Given the description of an element on the screen output the (x, y) to click on. 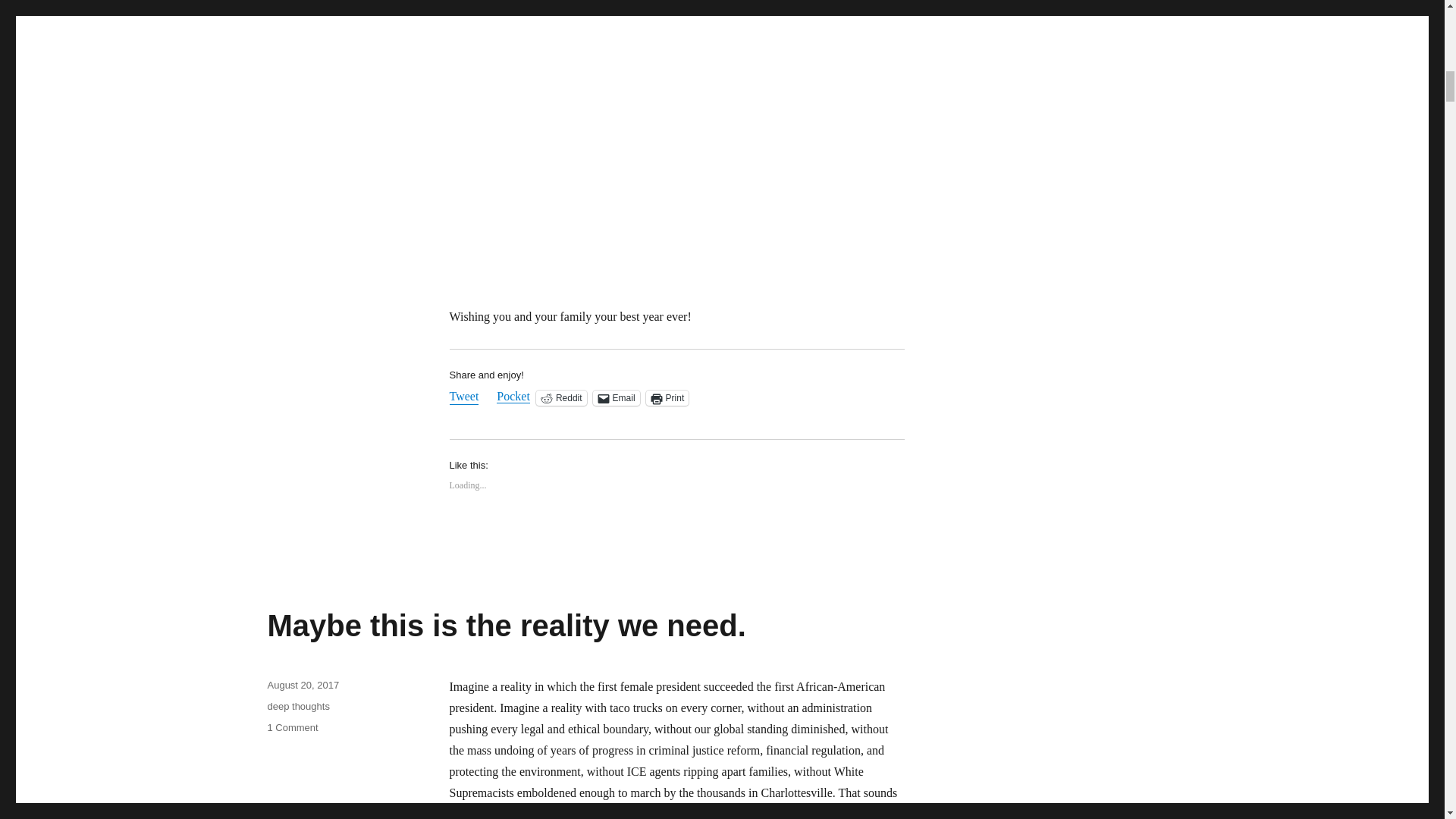
Click to email a link to a friend (291, 727)
Click to print (616, 397)
Email (667, 397)
Maybe this is the reality we need. (616, 397)
August 20, 2017 (505, 625)
Reddit (302, 685)
Tweet (560, 397)
Click to share on Reddit (463, 397)
Pocket (560, 397)
